Given the description of an element on the screen output the (x, y) to click on. 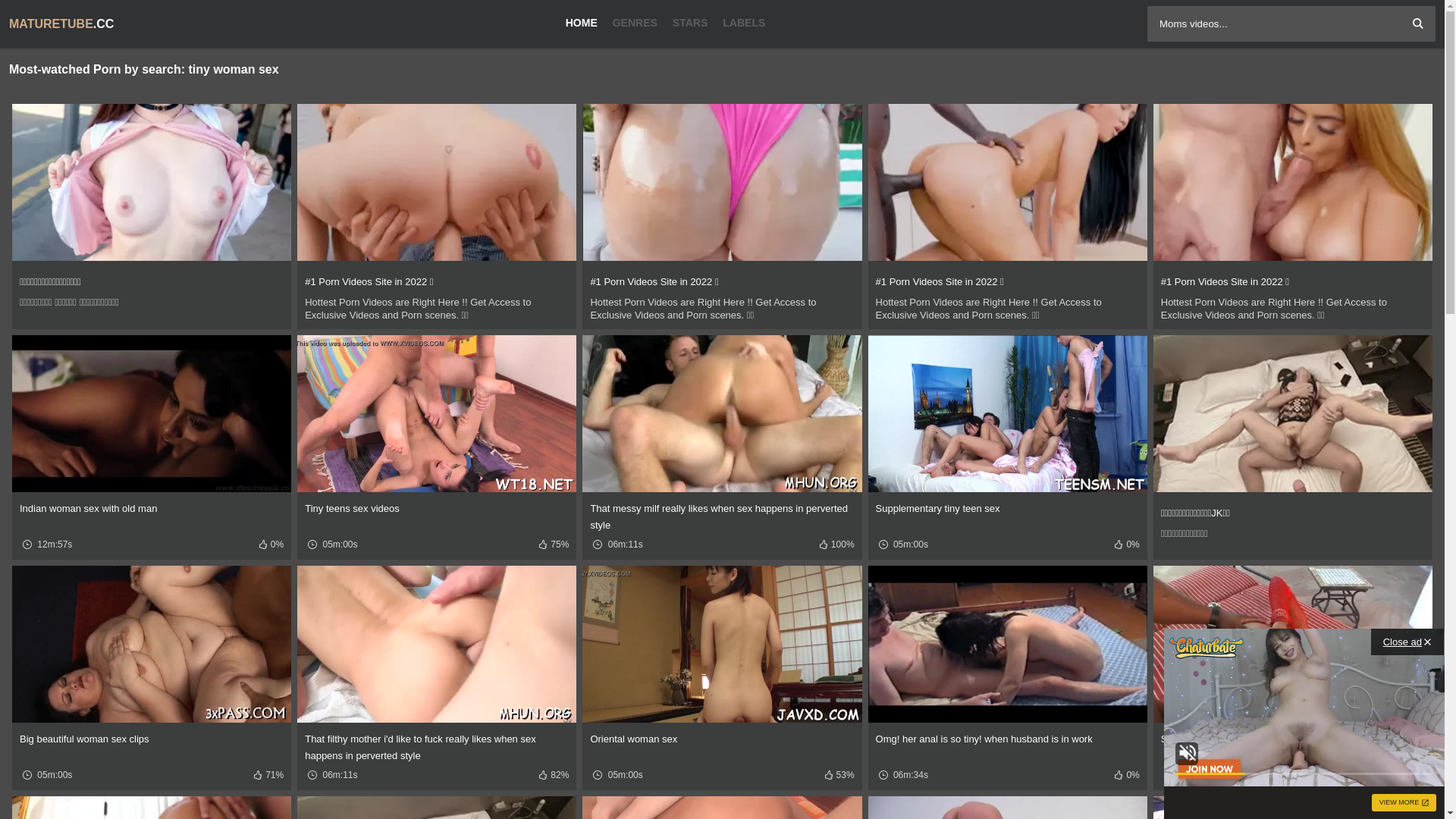
HOME Element type: text (585, 22)
STARS Element type: text (690, 22)
Omg! her anal is so tiny! when husband is in work Element type: text (983, 738)
Sexy black woman sex Element type: text (1211, 738)
Tiny teens sex videos Element type: text (351, 508)
Indian woman sex with old man Element type: text (87, 508)
Big beautiful woman sex clips Element type: text (84, 738)
MATURETUBE.CC Element type: text (100, 23)
Supplementary tiny teen sex Element type: text (937, 508)
LABELS Element type: text (743, 22)
GENRES Element type: text (635, 22)
Oriental woman sex Element type: text (633, 738)
